Given the description of an element on the screen output the (x, y) to click on. 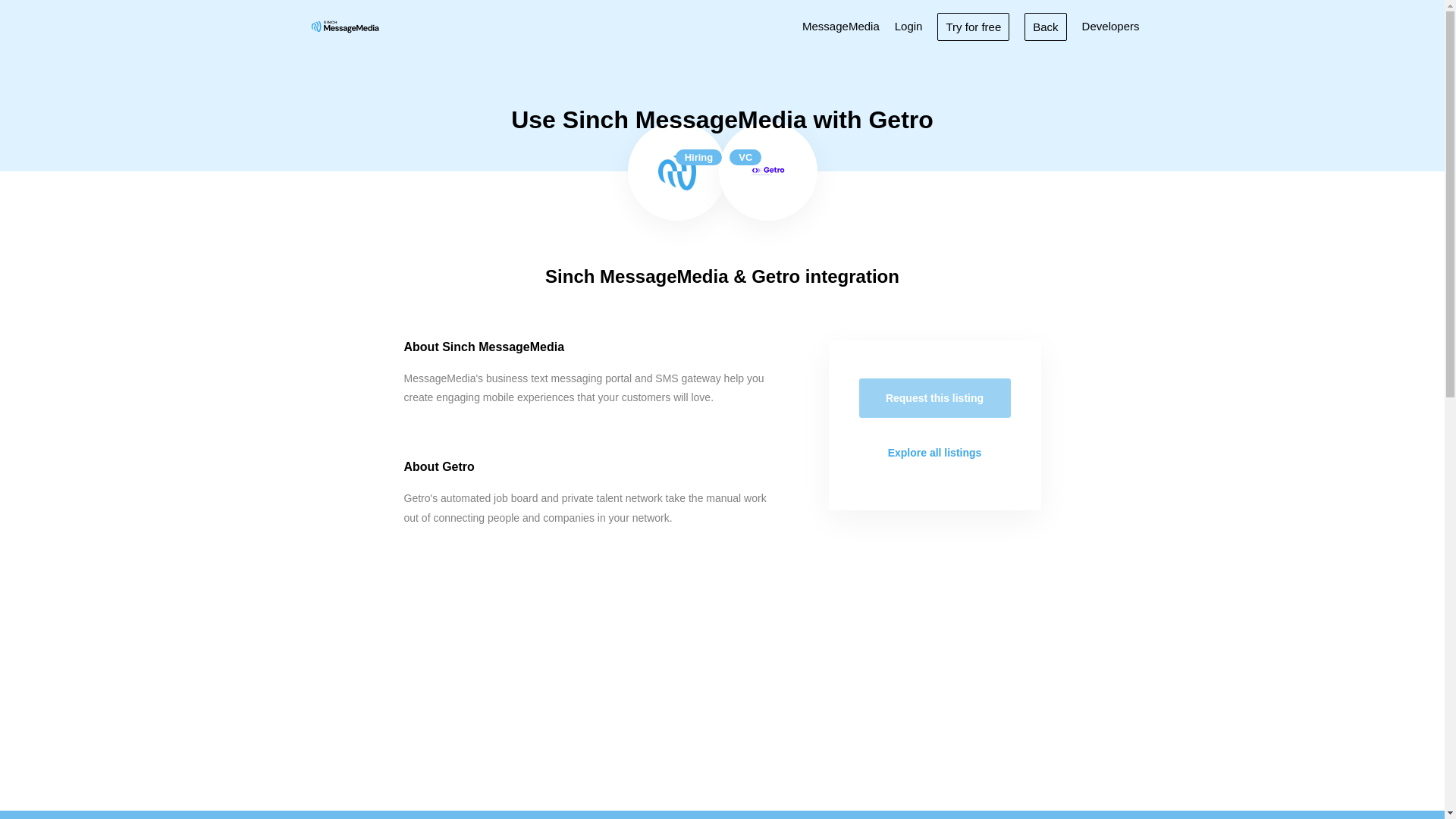
Login (909, 25)
Developers (1110, 25)
Sinch MessageMedia (676, 171)
Try for free (973, 26)
Back (1045, 26)
Request this listing (934, 397)
Sinch MessageMedia (344, 26)
Explore all listings (934, 452)
MessageMedia (840, 25)
Getro (768, 171)
